Given the description of an element on the screen output the (x, y) to click on. 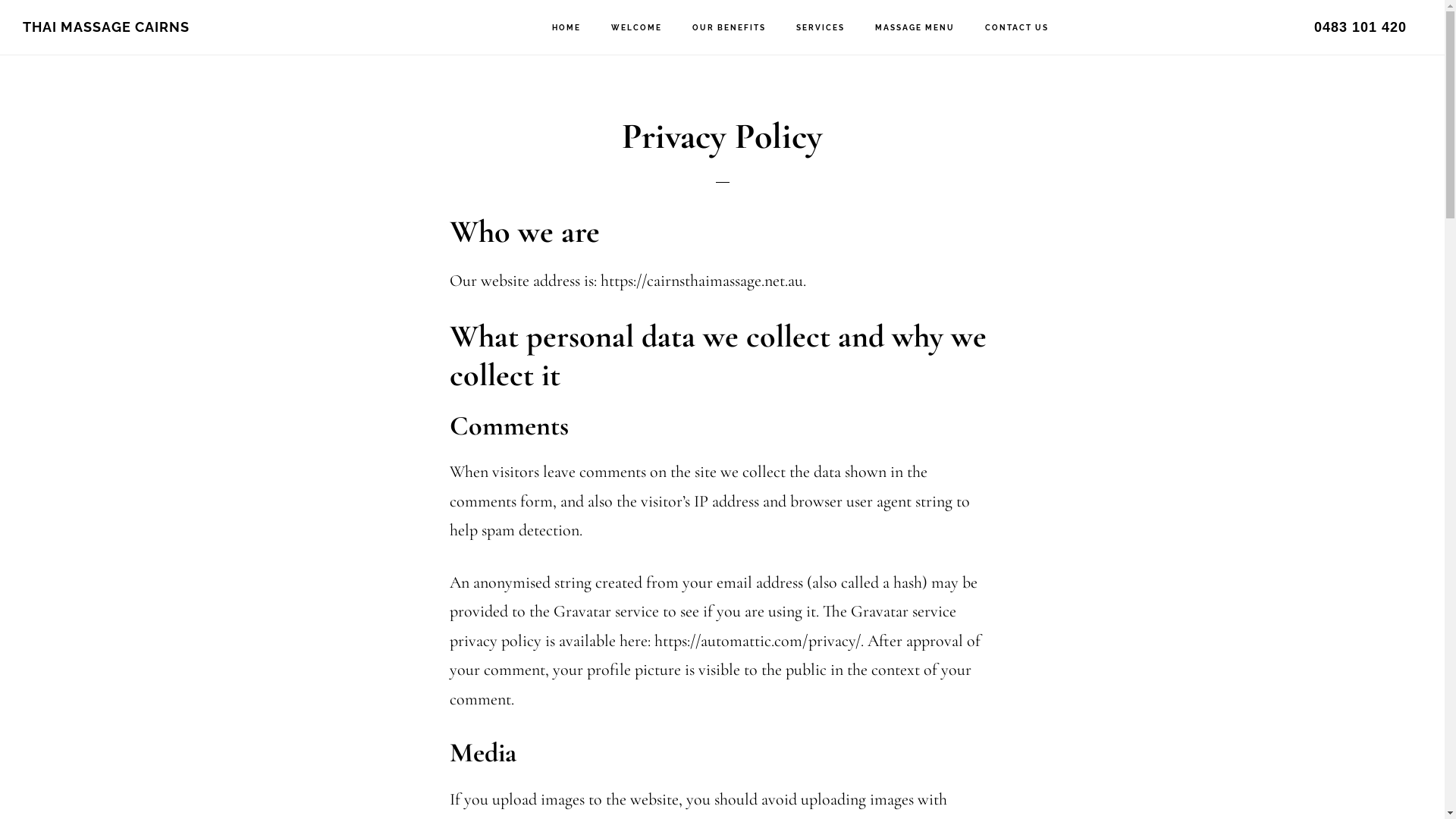
THAI MASSAGE CAIRNS Element type: text (105, 26)
HOME Element type: text (566, 27)
Skip to main content Element type: text (0, 0)
MASSAGE MENU Element type: text (914, 27)
CONTACT US Element type: text (1016, 27)
OUR BENEFITS Element type: text (729, 27)
WELCOME Element type: text (636, 27)
SERVICES Element type: text (820, 27)
